Given the description of an element on the screen output the (x, y) to click on. 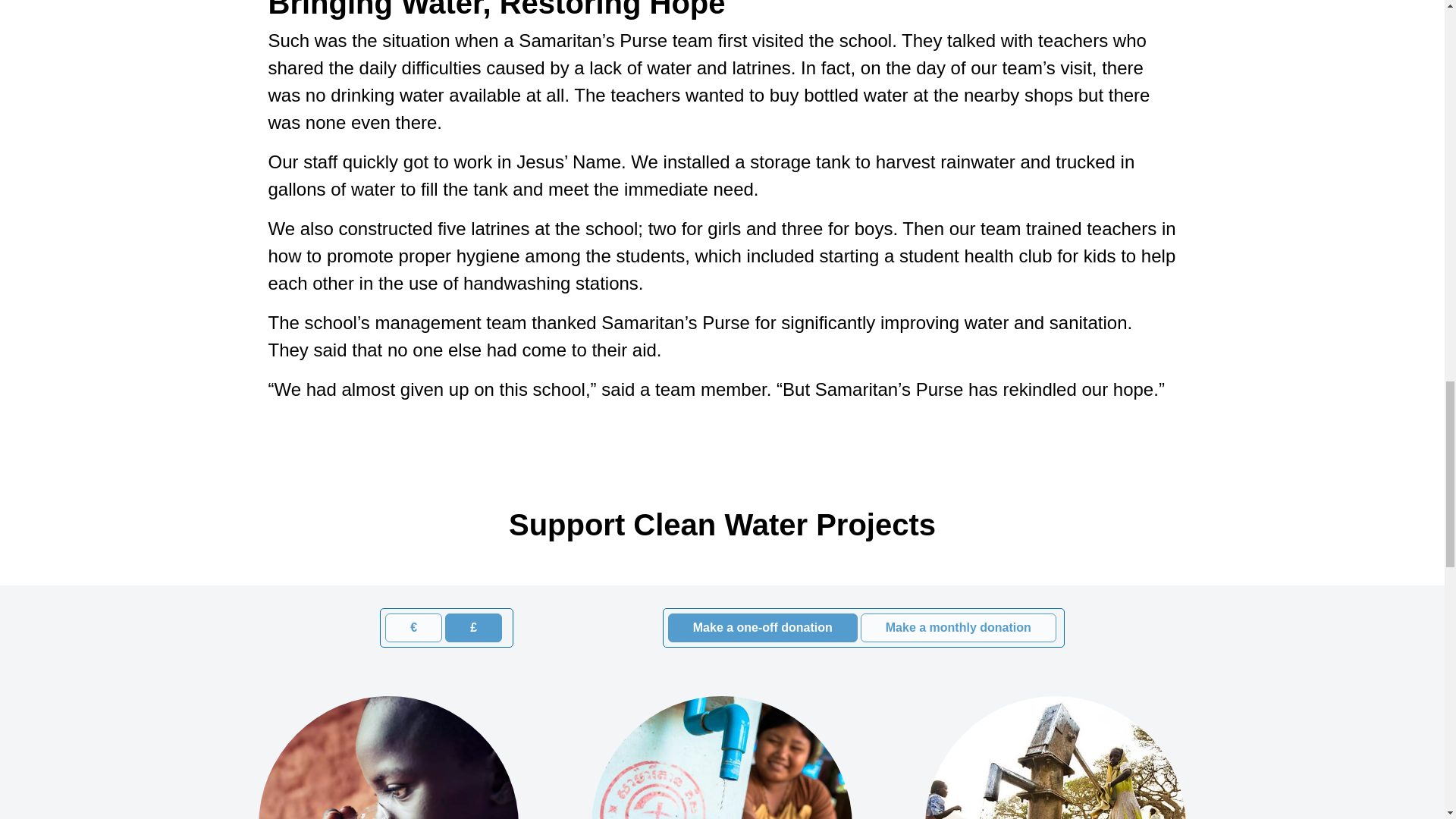
GBP (449, 618)
EUR (389, 618)
Make a one-off donation (762, 627)
Make a monthly donation (958, 627)
